Given the description of an element on the screen output the (x, y) to click on. 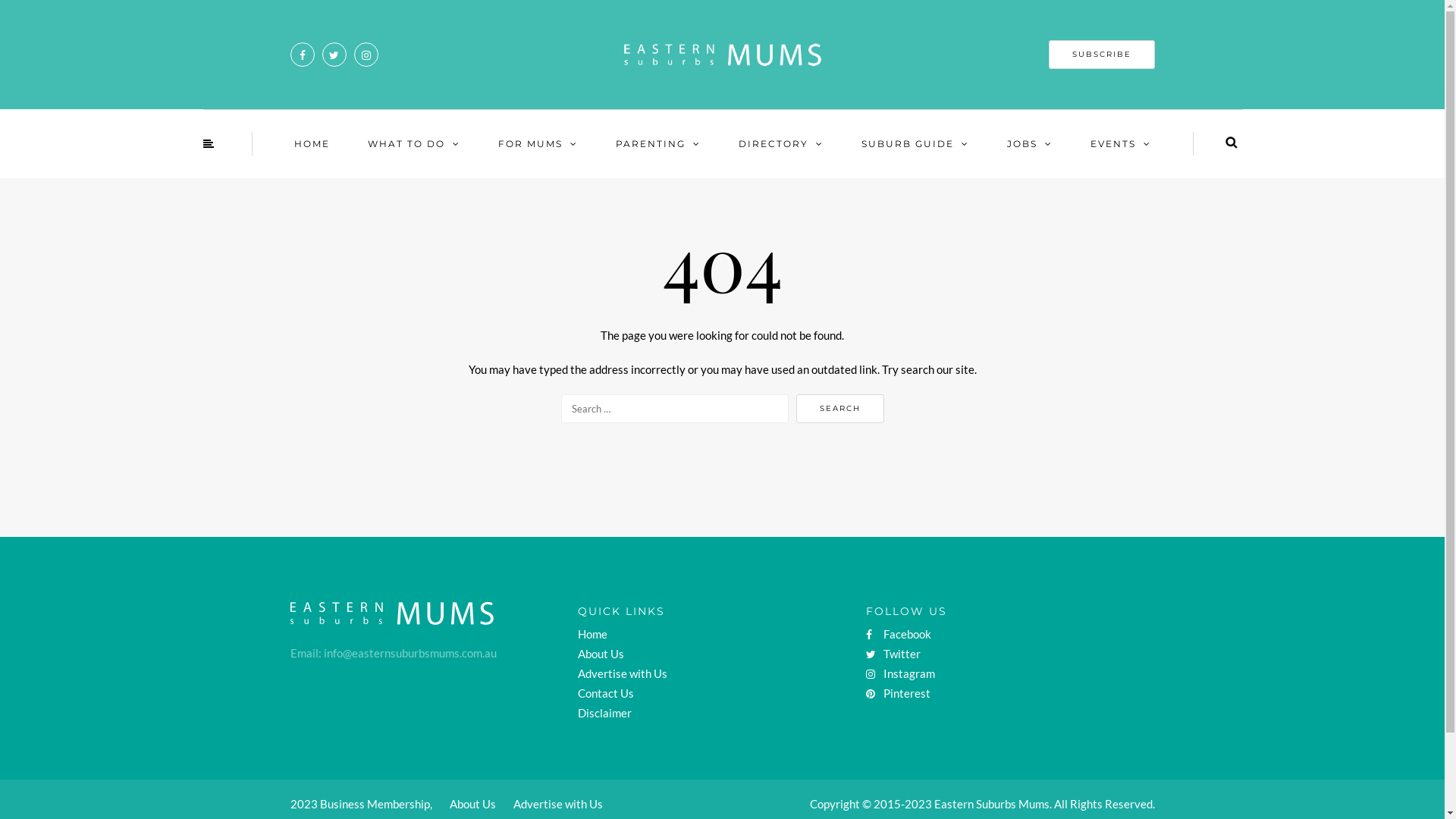
Search Element type: text (1231, 142)
Advertise with Us Element type: text (557, 803)
WHAT TO DO Element type: text (414, 143)
SUBSCRIBE Element type: text (1101, 54)
DIRECTORY Element type: text (780, 143)
2023 Business Membership, Element type: text (360, 803)
Home Element type: text (592, 633)
JOBS Element type: text (1028, 143)
HOME Element type: text (310, 143)
Twitter Element type: text (893, 653)
Advertise with Us Element type: text (622, 673)
Instagram Element type: text (900, 673)
FOR MUMS Element type: text (537, 143)
SUBURB GUIDE Element type: text (914, 143)
Pinterest Element type: text (898, 692)
Contact Us Element type: text (605, 692)
Disclaimer Element type: text (604, 712)
Facebook Element type: text (898, 633)
Search Element type: text (840, 408)
About Us Element type: text (600, 653)
PARENTING Element type: text (657, 143)
EVENTS Element type: text (1119, 143)
About Us Element type: text (471, 803)
